Given the description of an element on the screen output the (x, y) to click on. 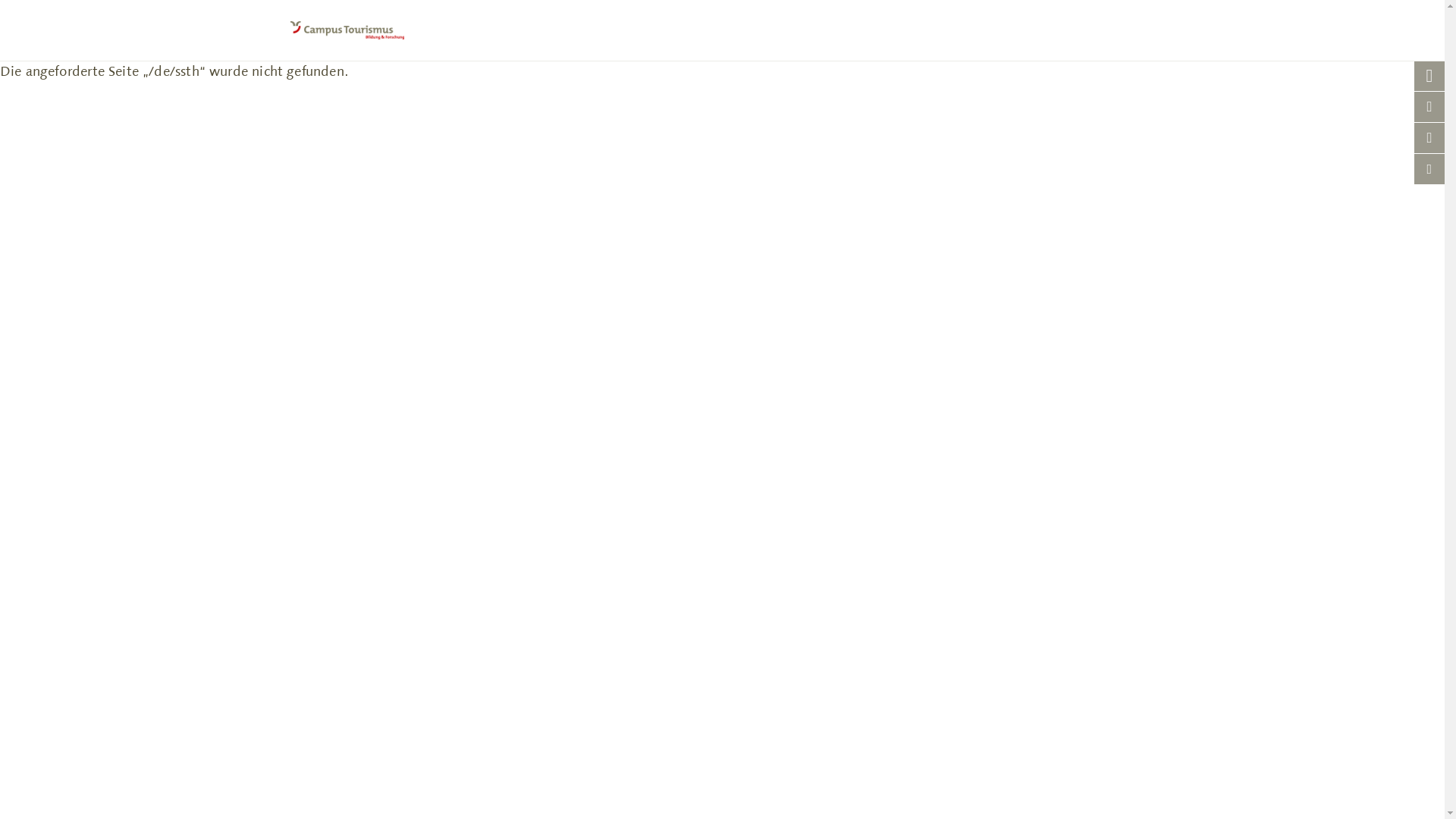
Per E-Mail versenden Element type: hover (1429, 168)
Bei Google+ teilen Element type: hover (1429, 137)
Bei Twitter teilen Element type: hover (1429, 75)
Startseite Element type: hover (721, 30)
Bei Facebook teilen Element type: hover (1429, 106)
Direkt zum Inhalt Element type: text (54, 60)
